Given the description of an element on the screen output the (x, y) to click on. 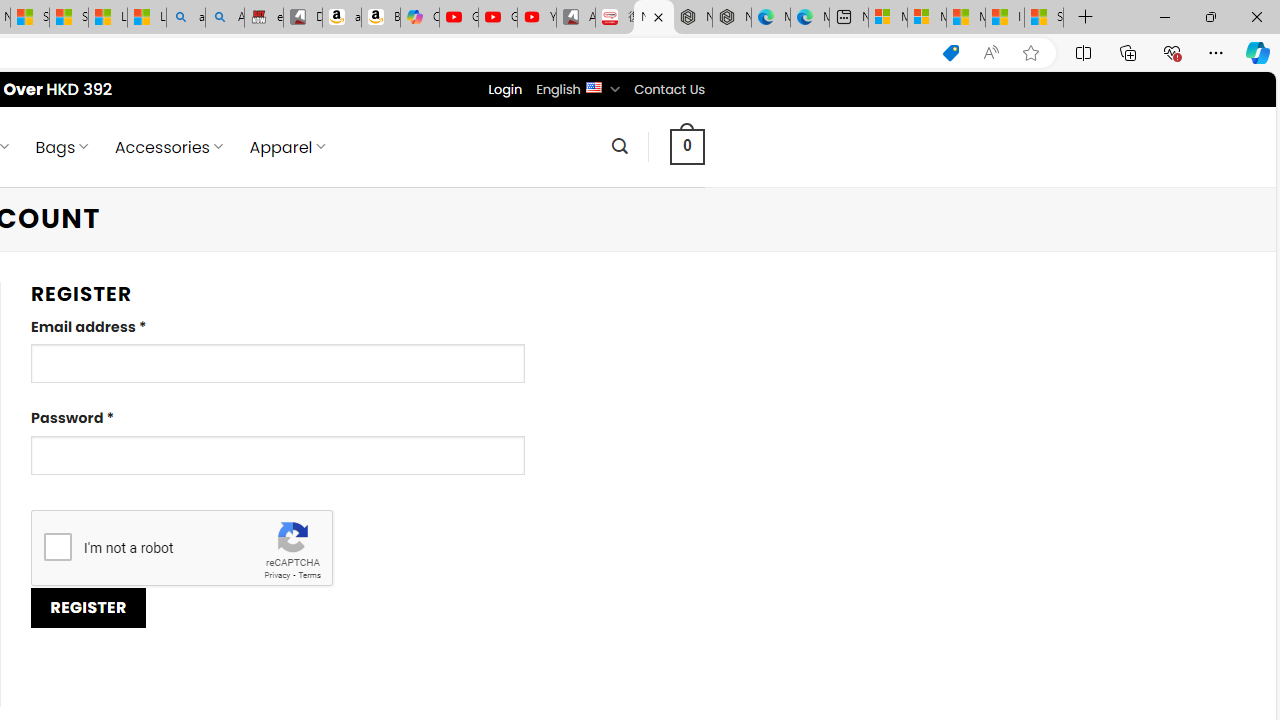
amazon.in/dp/B0CX59H5W7/?tag=gsmcom05-21 (341, 17)
  0   (687, 146)
REGISTER (88, 607)
